Given the description of an element on the screen output the (x, y) to click on. 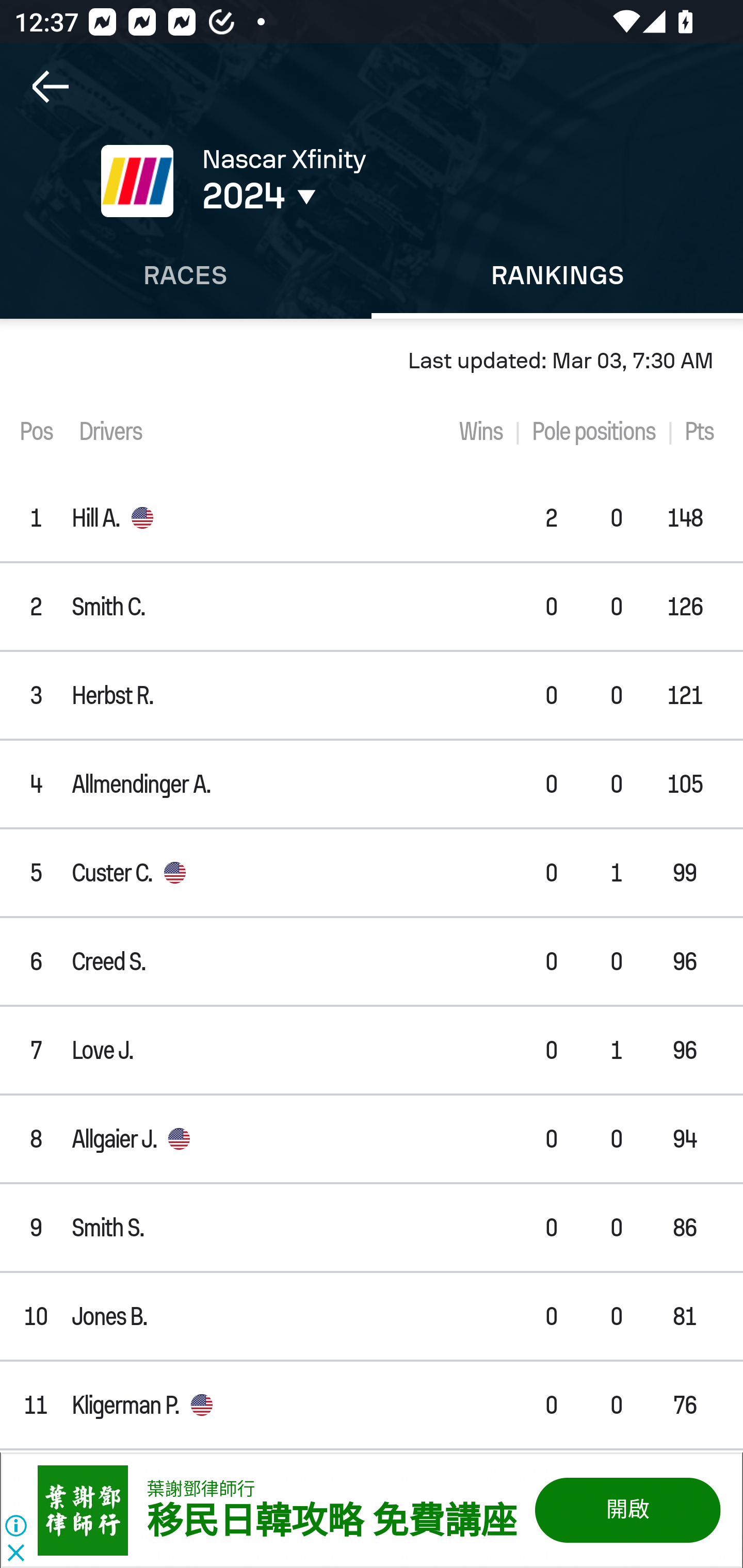
Navigate up (50, 86)
2024 (350, 195)
Races RACES (185, 275)
1 Hill A. 2 0 148 (371, 518)
2 Smith C. 0 0 126 (371, 605)
3 Herbst R. 0 0 121 (371, 695)
4 Allmendinger A. 0 0 105 (371, 783)
5 Custer C. 0 1 99 (371, 872)
6 Creed S. 0 0 96 (371, 961)
7 Love J. 0 1 96 (371, 1049)
8 Allgaier J. 0 0 94 (371, 1139)
9 Smith S. 0 0 86 (371, 1227)
10 Jones B. 0 0 81 (371, 1316)
11 Kligerman P. 0 0 76 (371, 1404)
葉謝鄧律師行 (200, 1488)
開啟 (626, 1509)
移民日韓攻略 免費講座 (330, 1521)
